Given the description of an element on the screen output the (x, y) to click on. 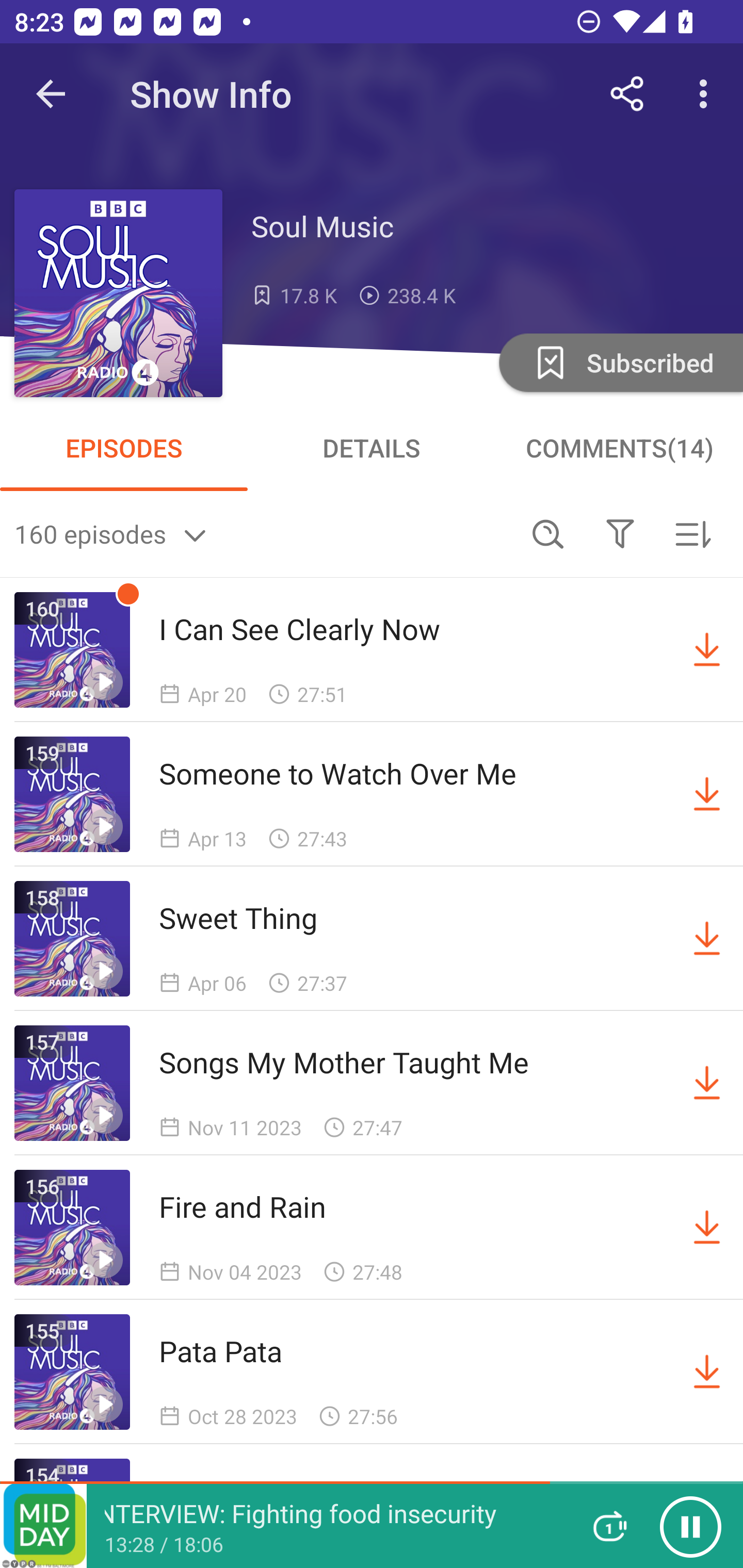
Navigate up (50, 93)
Share (626, 93)
More options (706, 93)
Unsubscribe Subscribed (619, 361)
EPISODES (123, 447)
DETAILS (371, 447)
COMMENTS(14) (619, 447)
160 episodes  (262, 533)
 Search (547, 533)
 (619, 533)
 Sorted by newest first (692, 533)
Download (706, 649)
Download (706, 793)
Download (706, 939)
Download (706, 1083)
Download (706, 1227)
Download (706, 1371)
Pause (690, 1526)
